Given the description of an element on the screen output the (x, y) to click on. 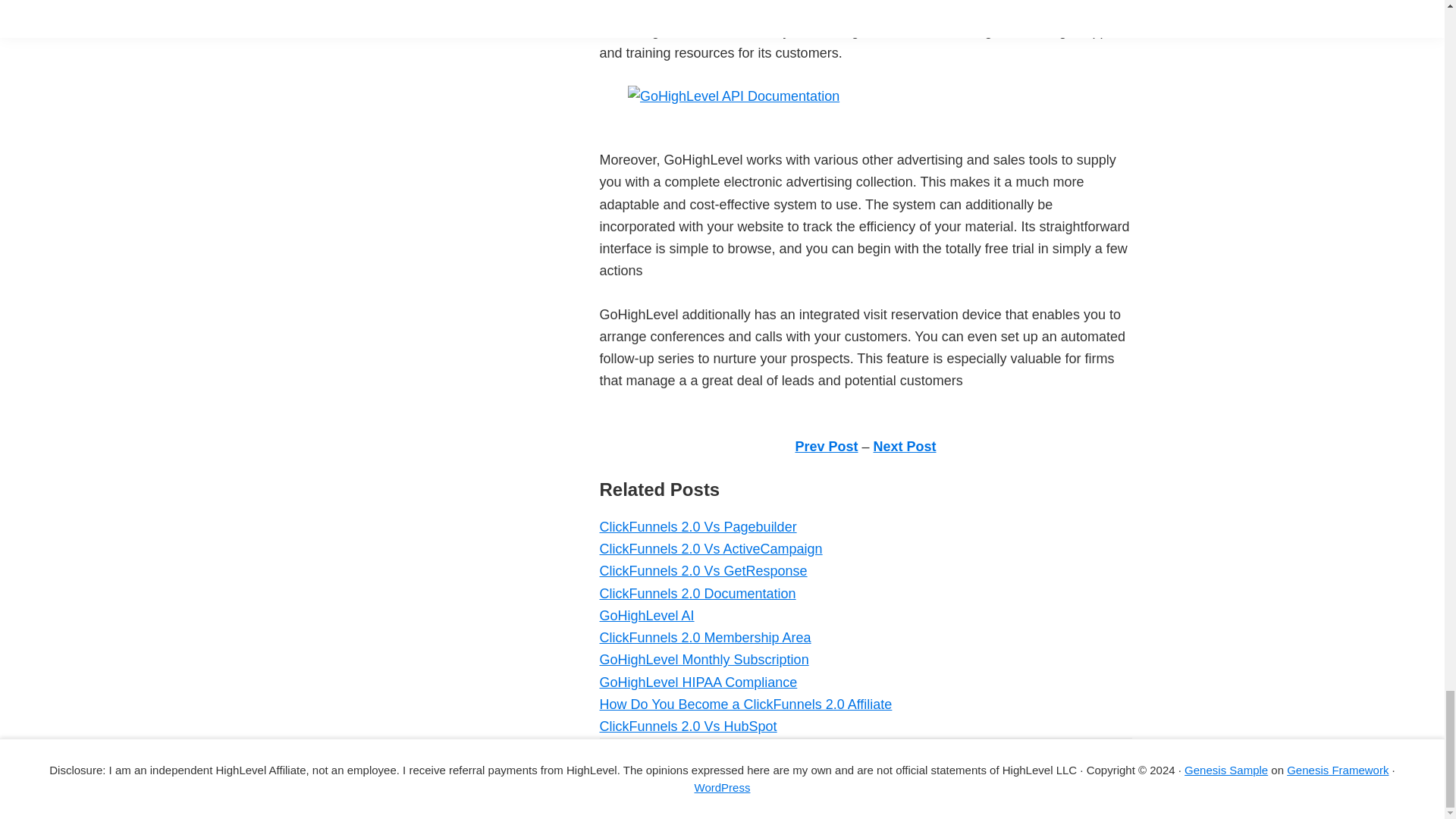
ClickFunnels 2.0 Vs Pagebuilder (697, 526)
How Do You Become a ClickFunnels 2.0 Affiliate (744, 703)
GoHighLevel AI (646, 615)
ClickFunnels 2.0 Vs ActiveCampaign (710, 548)
How Do You Become a ClickFunnels 2.0 Affiliate (744, 703)
GoHighLevel Monthly Subscription (703, 659)
GoHighLevel HIPAA Compliance (697, 682)
ClickFunnels 2.0 Vs HubSpot (687, 726)
Next Post (904, 446)
ClickFunnels 2.0 Vs ActiveCampaign (710, 548)
